Given the description of an element on the screen output the (x, y) to click on. 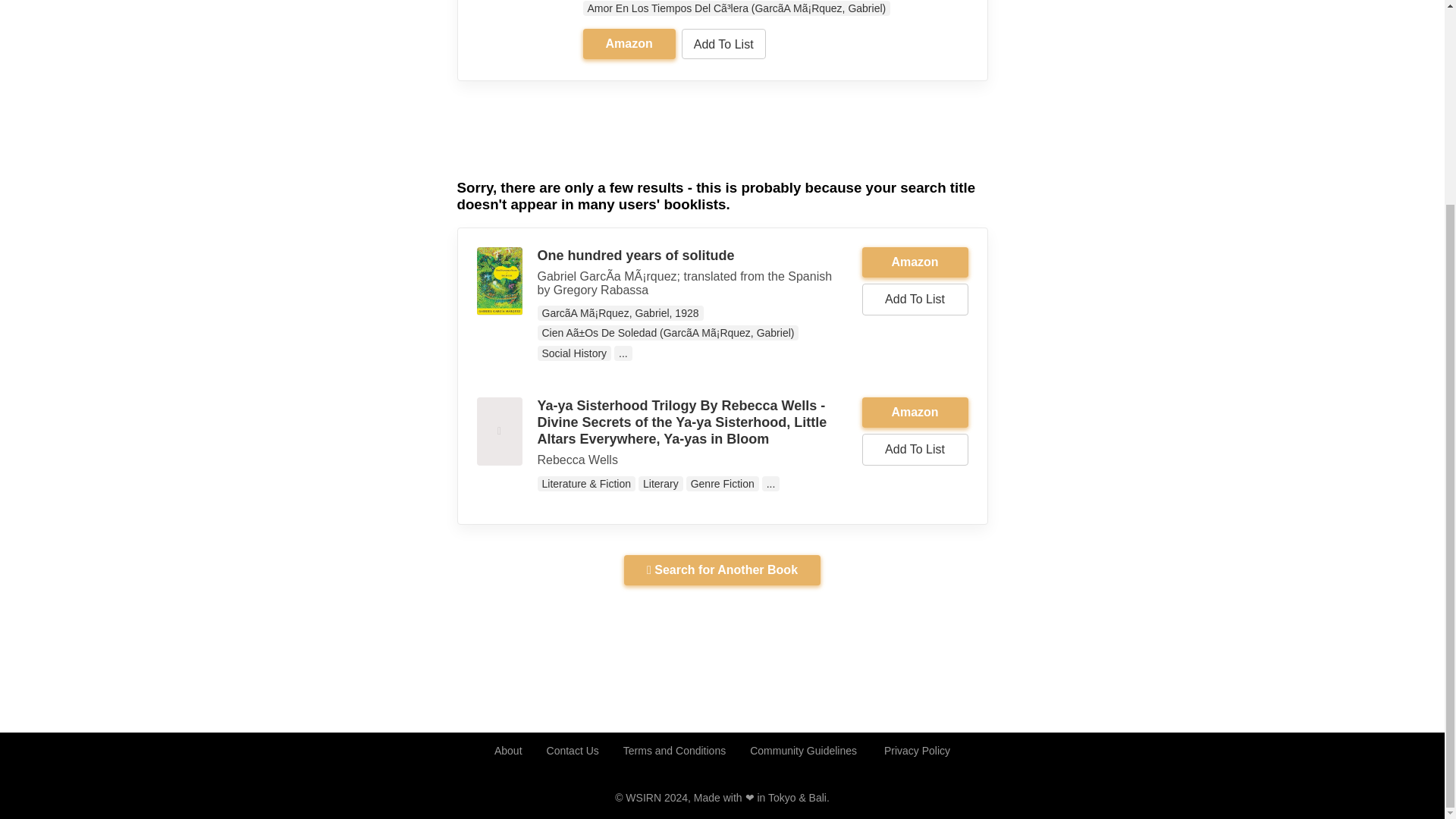
Add To List (723, 43)
Add To List (914, 299)
... (770, 483)
Amazon (914, 262)
Amazon (914, 262)
... (622, 353)
Amazon (914, 412)
Add To List (914, 450)
Amazon (914, 412)
Literary (660, 483)
